Given the description of an element on the screen output the (x, y) to click on. 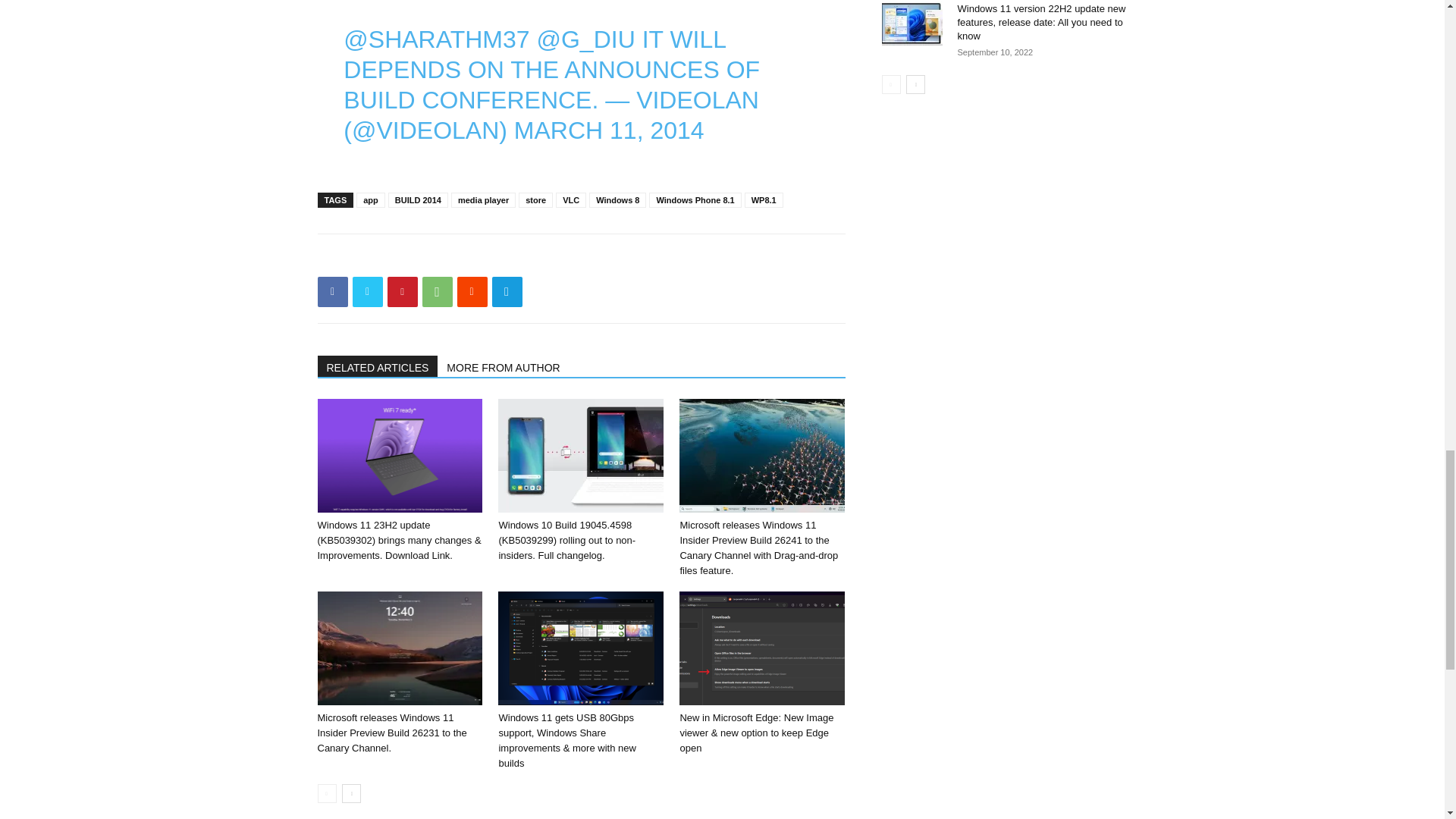
bottomFacebookLike (430, 258)
Pinterest (401, 291)
WhatsApp (436, 291)
Twitter (366, 291)
Facebook (332, 291)
